Given the description of an element on the screen output the (x, y) to click on. 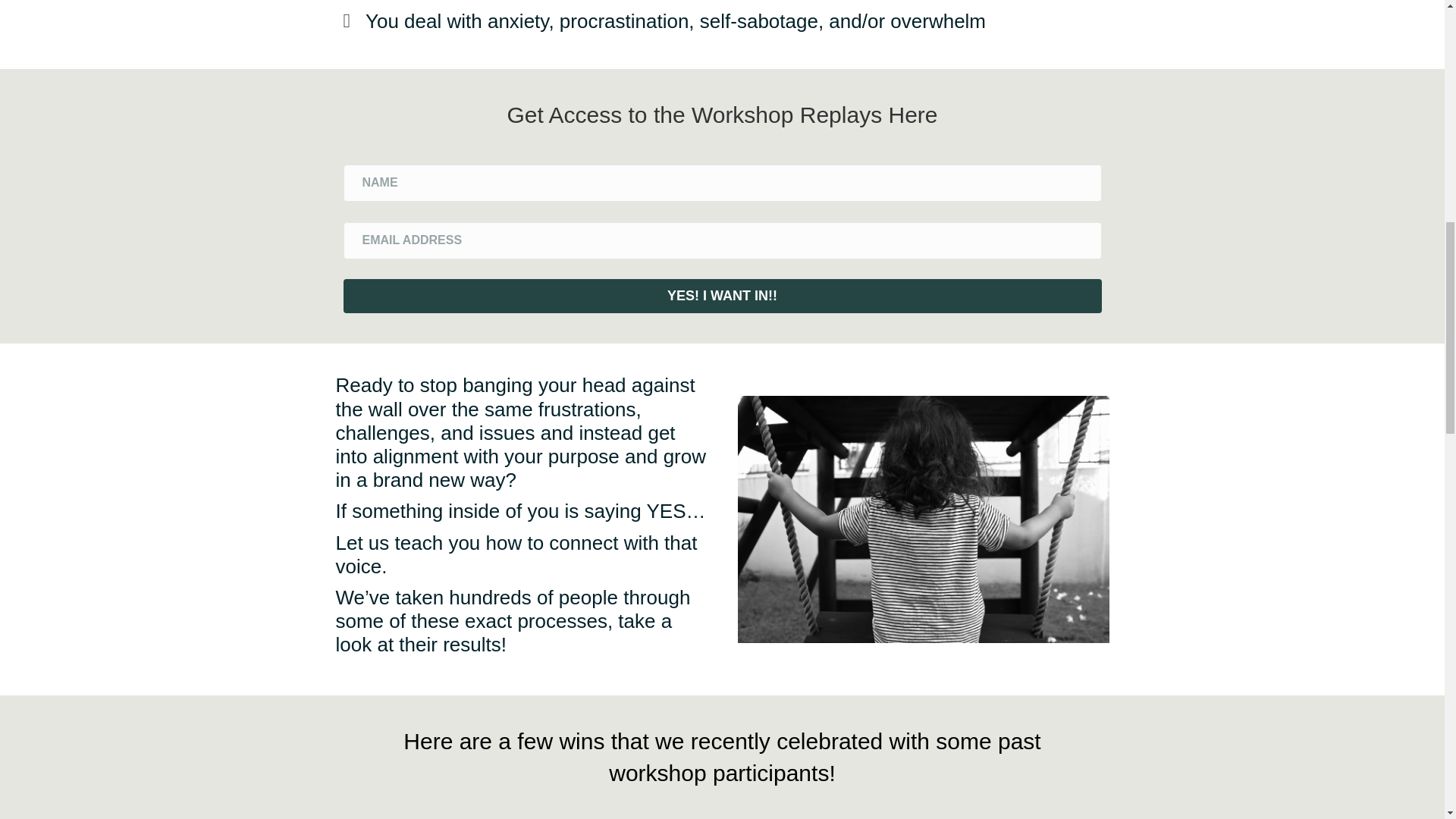
1 (922, 518)
YES! I WANT IN!! (721, 296)
